Given the description of an element on the screen output the (x, y) to click on. 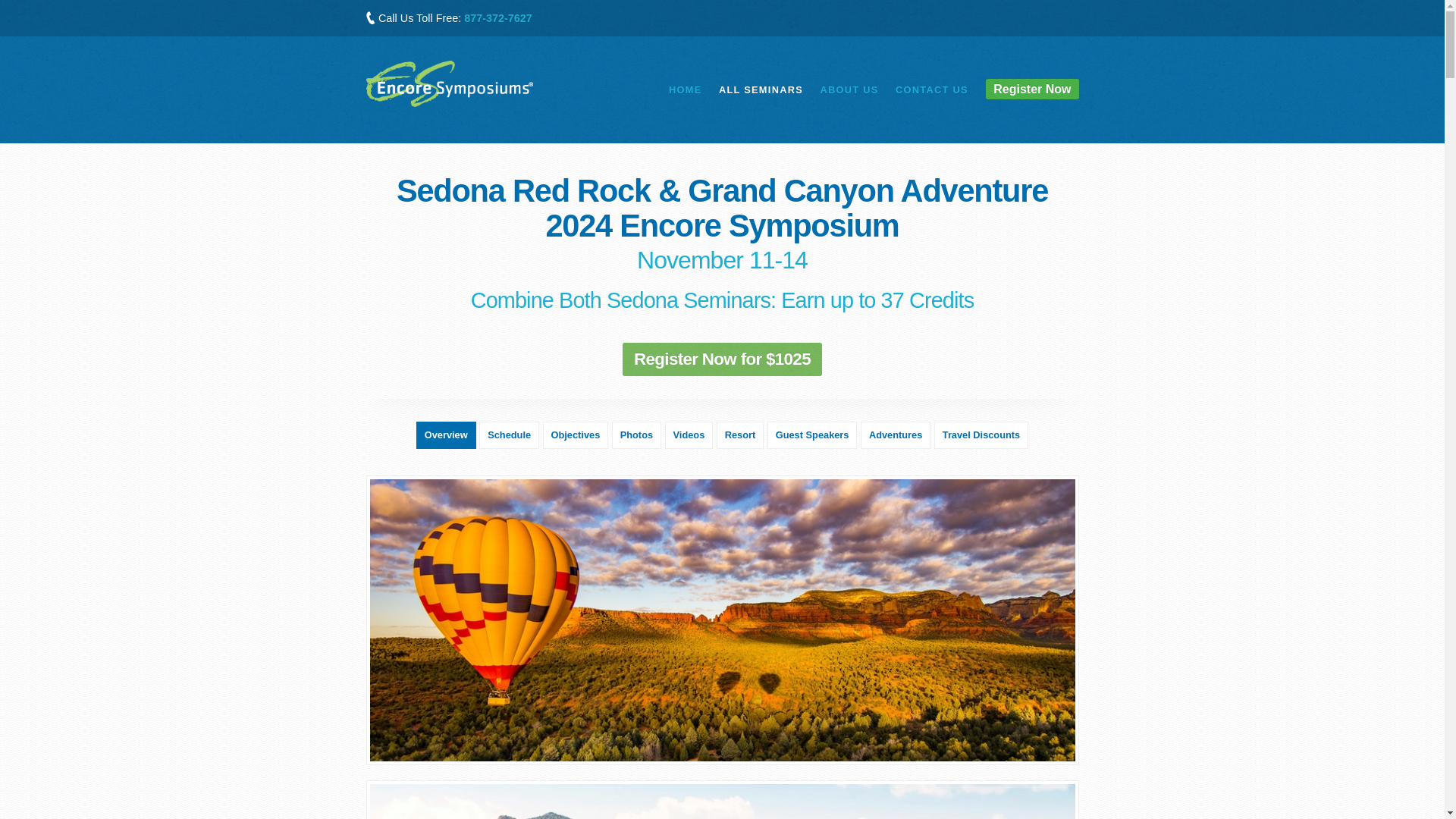
877-372-7627 (498, 18)
Schedule (508, 434)
Adventures (895, 434)
Register Now (1031, 88)
CONTACT US (931, 89)
Photos (636, 434)
ABOUT US (848, 89)
Guest Speakers (812, 434)
Resort (740, 434)
Videos (689, 434)
Objectives (575, 434)
HOME (684, 89)
Travel Discounts (980, 434)
ALL SEMINARS (761, 89)
Overview (446, 434)
